Given the description of an element on the screen output the (x, y) to click on. 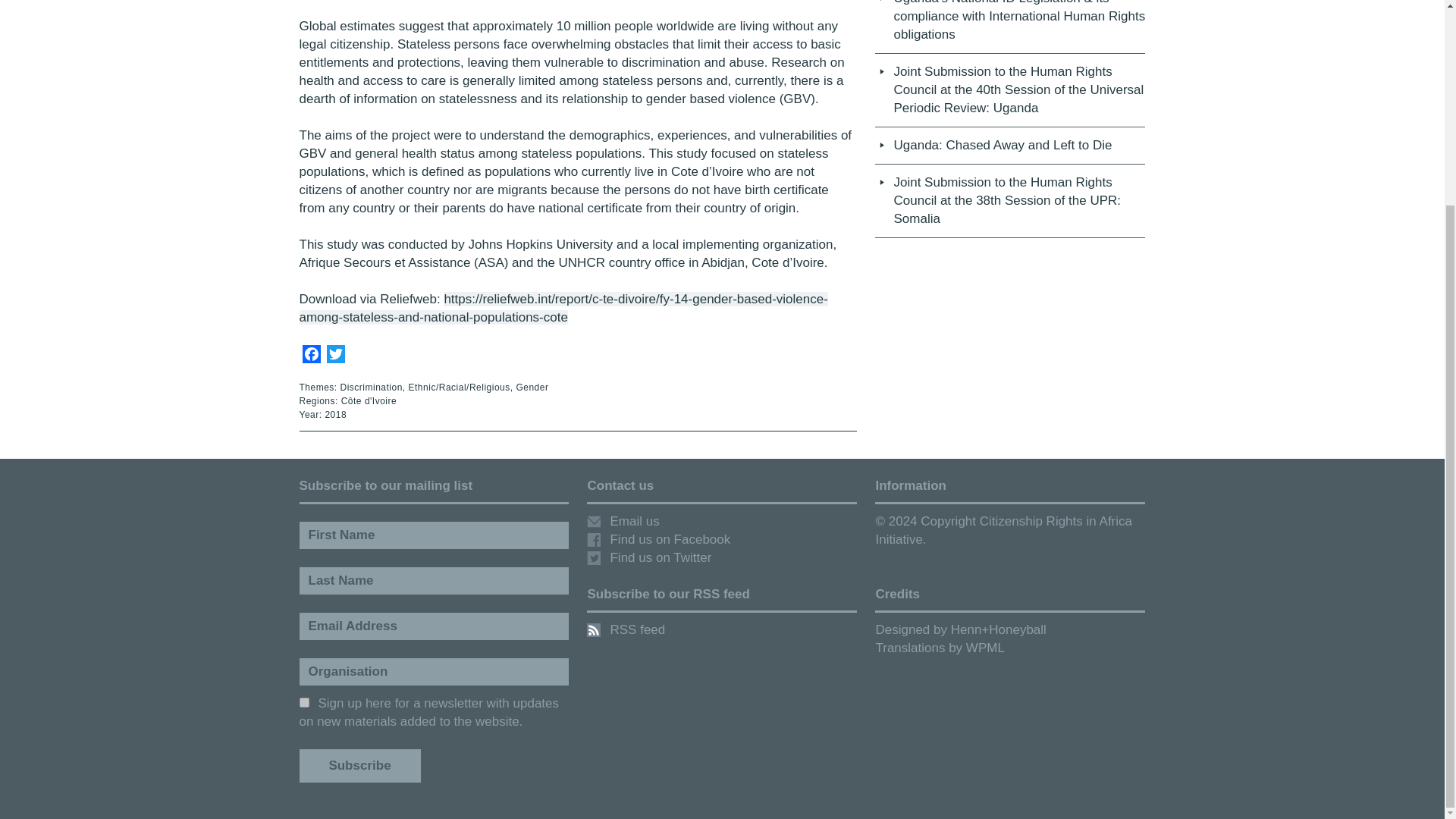
Subscribe (359, 765)
1 (303, 702)
WPML (985, 647)
Facebook (310, 356)
Twitter (335, 356)
